Given the description of an element on the screen output the (x, y) to click on. 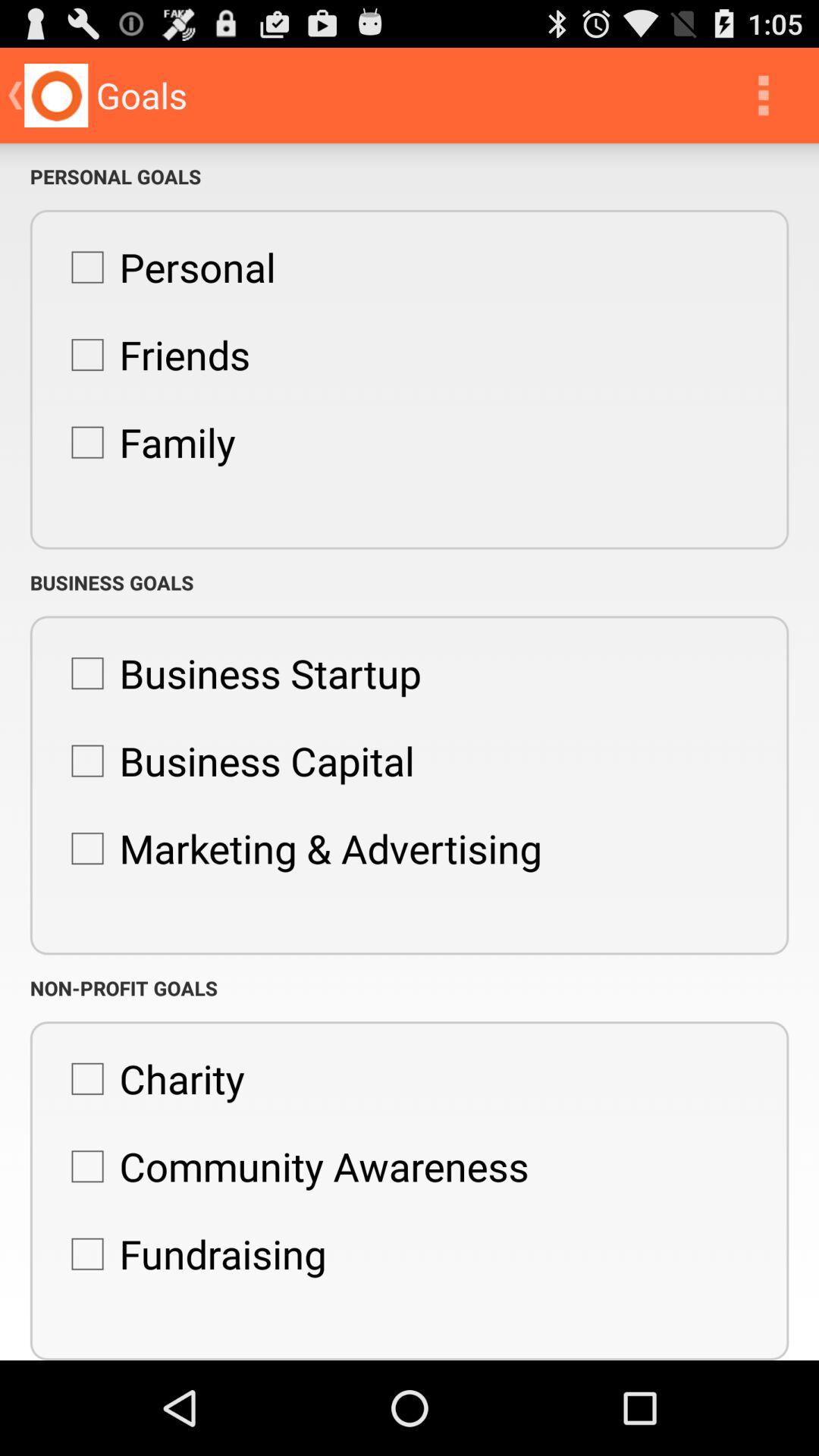
tap the fundraising (190, 1253)
